Given the description of an element on the screen output the (x, y) to click on. 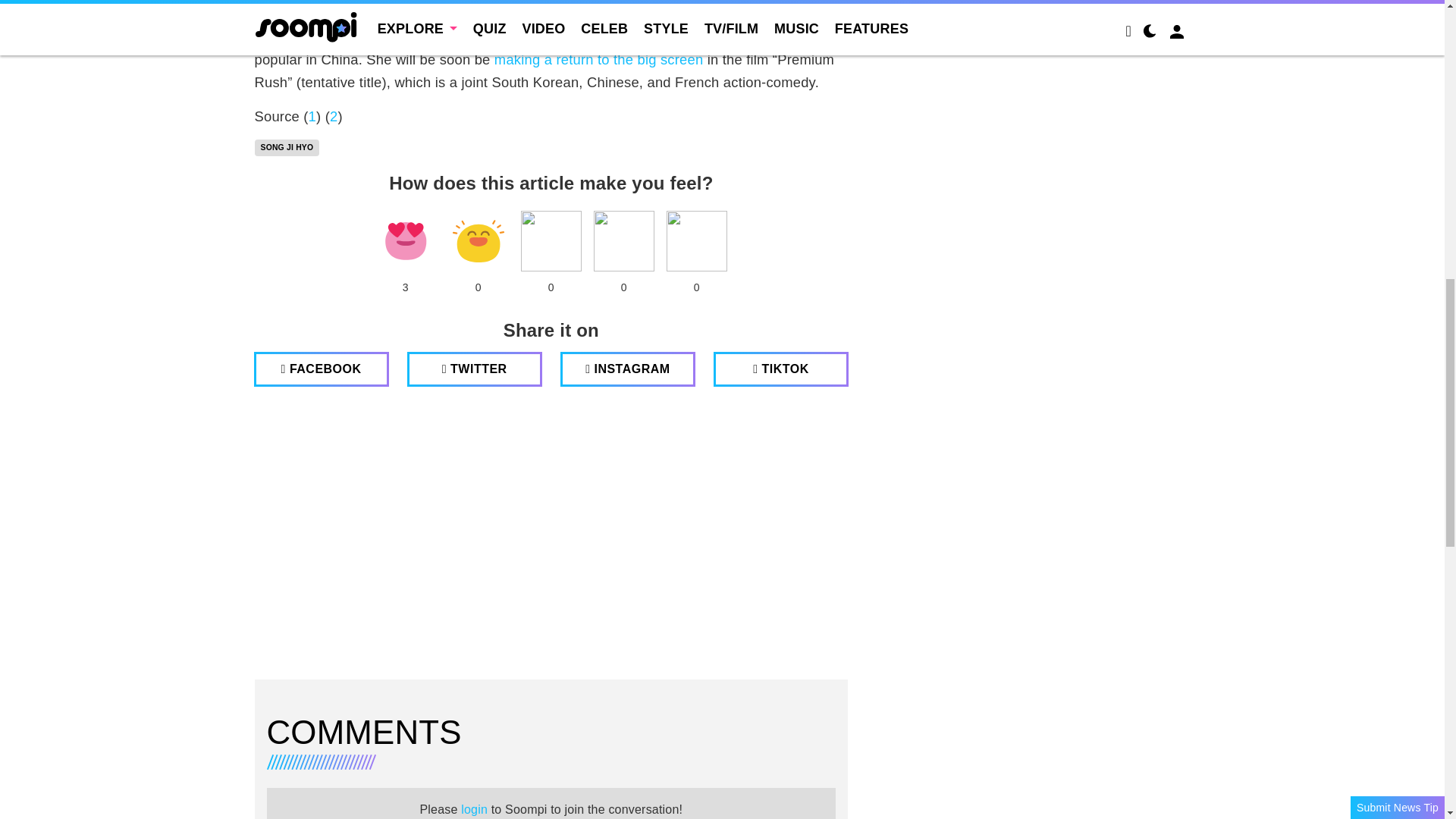
fire (550, 240)
OMG (696, 240)
Heart (405, 240)
LOL (478, 240)
SONG JI HYO (287, 147)
Song Ji Hyo (287, 147)
Crying (623, 240)
heart (405, 240)
making a return to the big screen (599, 59)
Running Man (662, 37)
